Given the description of an element on the screen output the (x, y) to click on. 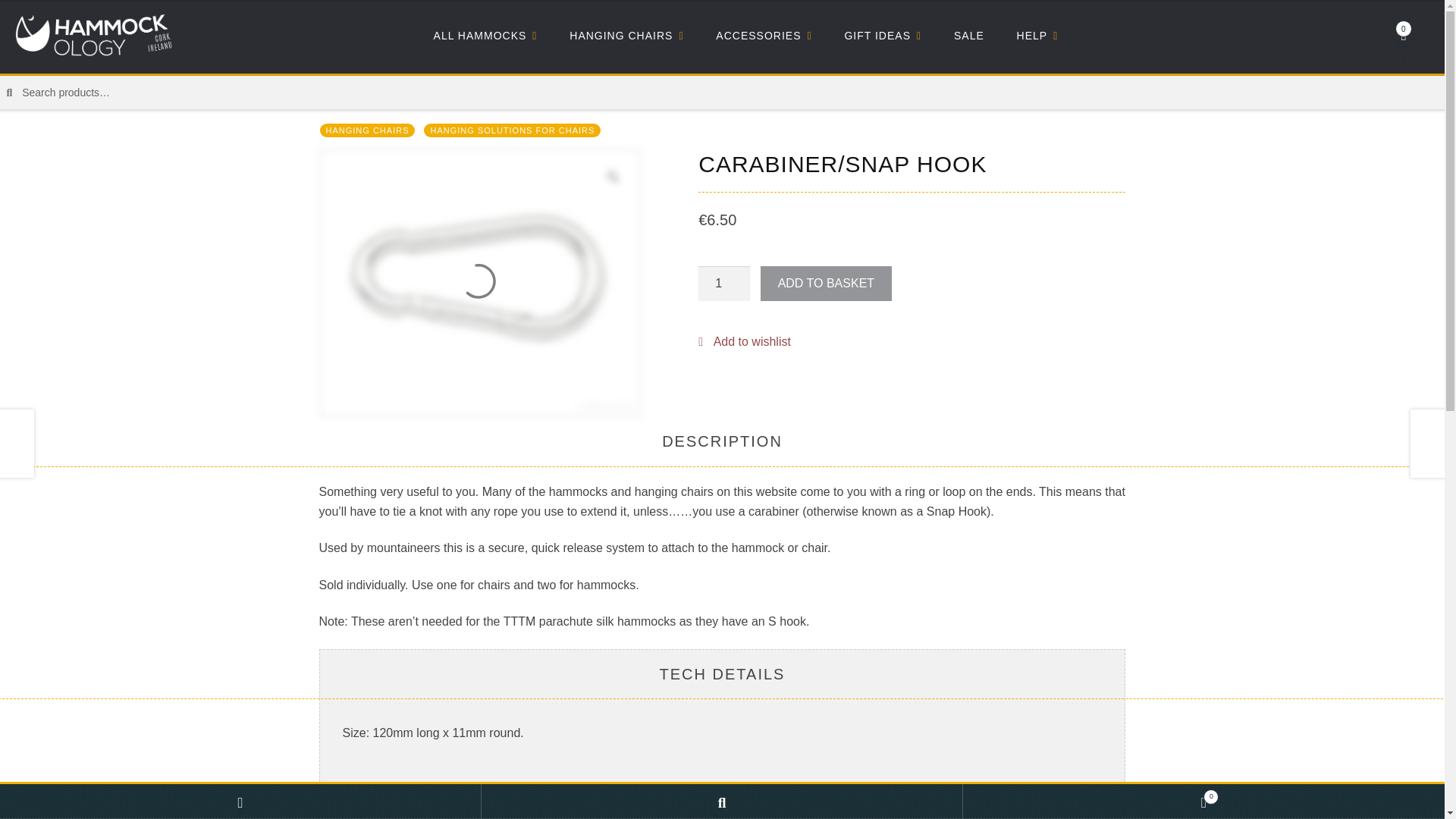
ACCESSORIES (764, 37)
images (480, 282)
HELP (1036, 37)
ALL HAMMOCKS (485, 37)
GIFT IDEAS (882, 37)
HANGING CHAIRS (626, 37)
1 (723, 283)
